Given the description of an element on the screen output the (x, y) to click on. 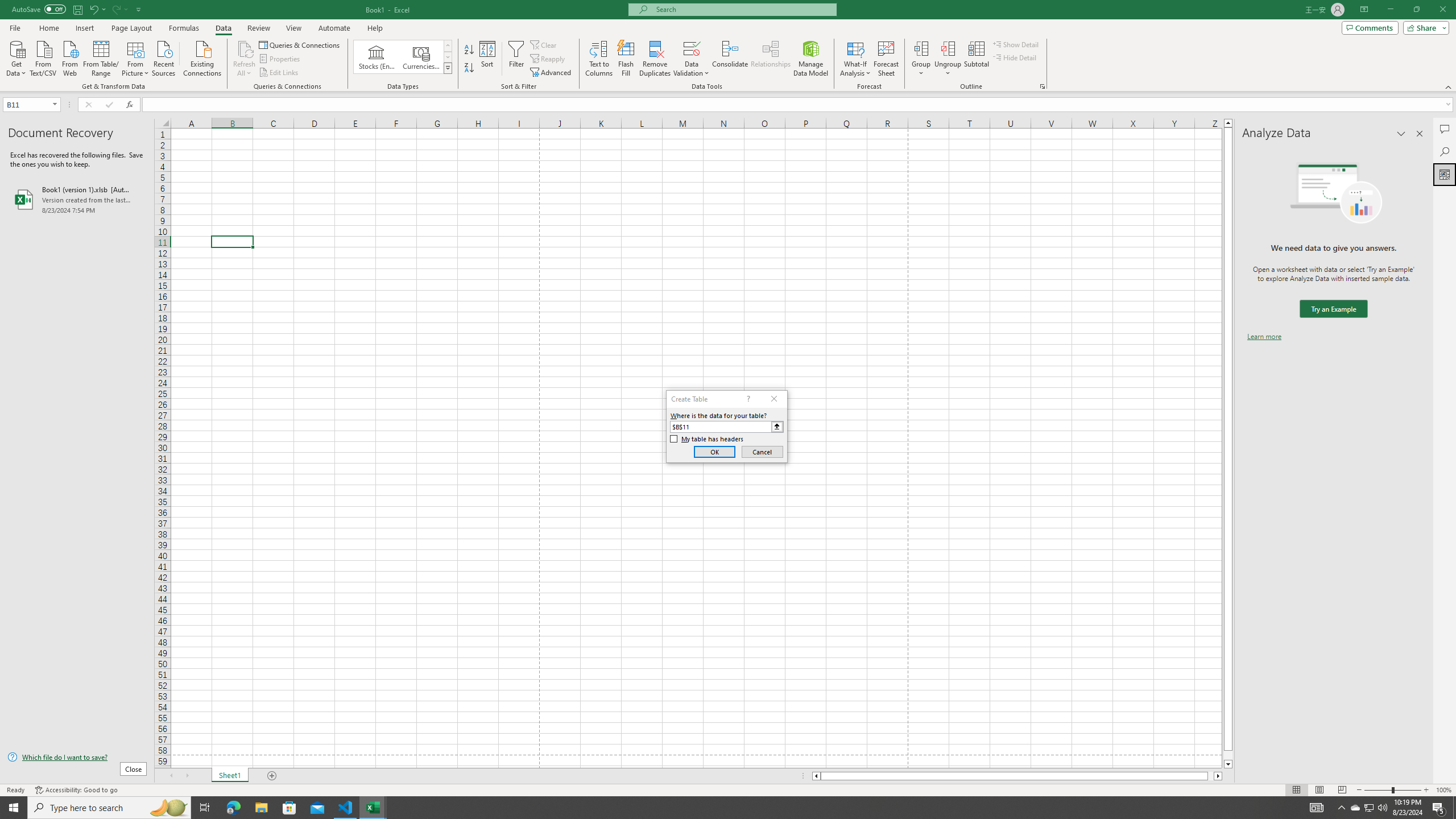
Ungroup... (947, 58)
Close pane (1419, 133)
Collapse the Ribbon (1448, 86)
Consolidate... (729, 58)
Refresh All (244, 58)
Share (1423, 27)
Open (54, 104)
Column right (1218, 775)
Comments (1444, 128)
Advanced... (551, 72)
AutomationID: ConvertToLinkedEntity (403, 56)
We need data to give you answers. Try an Example (1333, 308)
View (293, 28)
Show Detail (1016, 44)
Automate (334, 28)
